Given the description of an element on the screen output the (x, y) to click on. 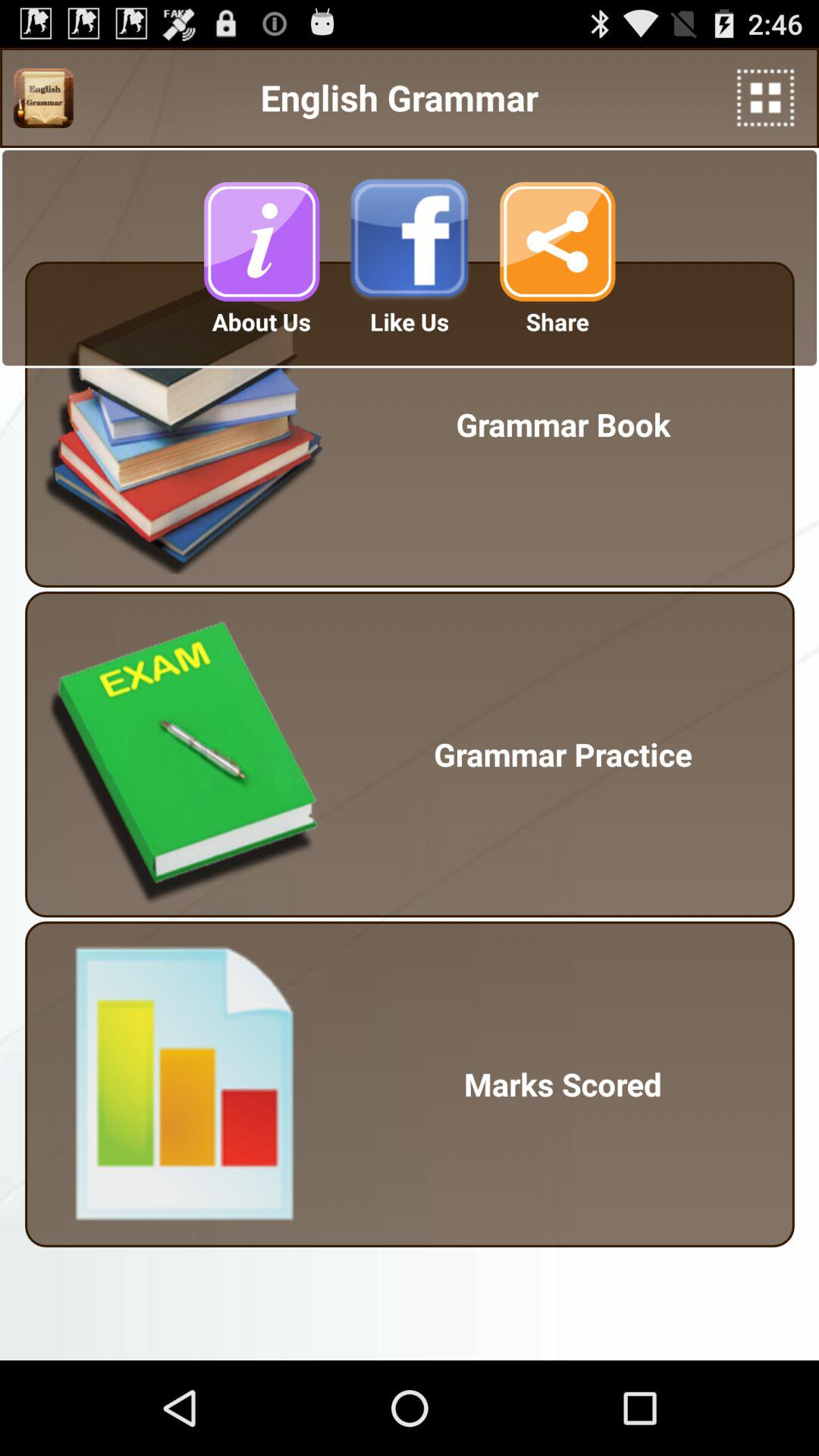
choose icon above grammar book icon (765, 97)
